Given the description of an element on the screen output the (x, y) to click on. 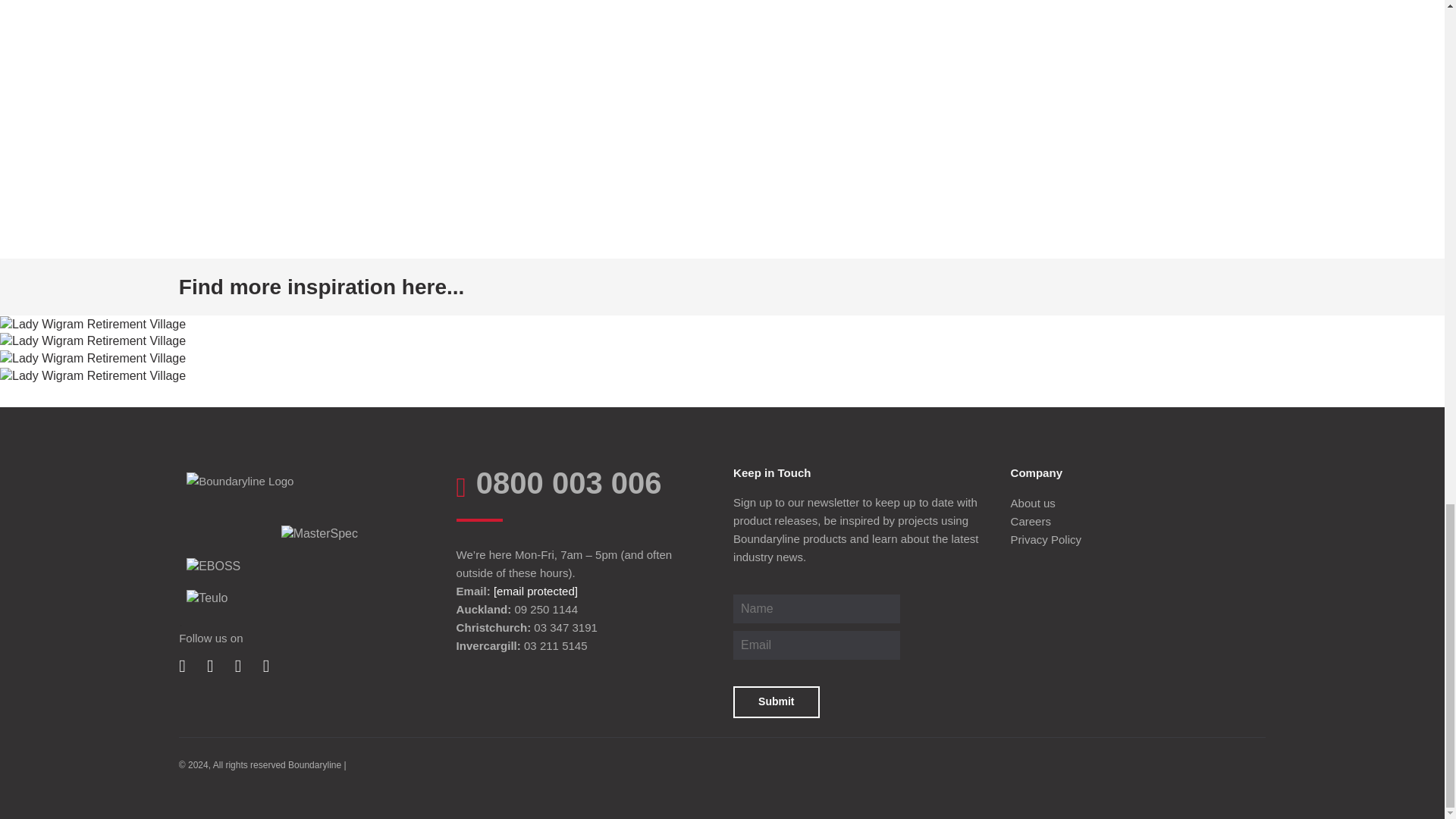
Submit (775, 702)
